Given the description of an element on the screen output the (x, y) to click on. 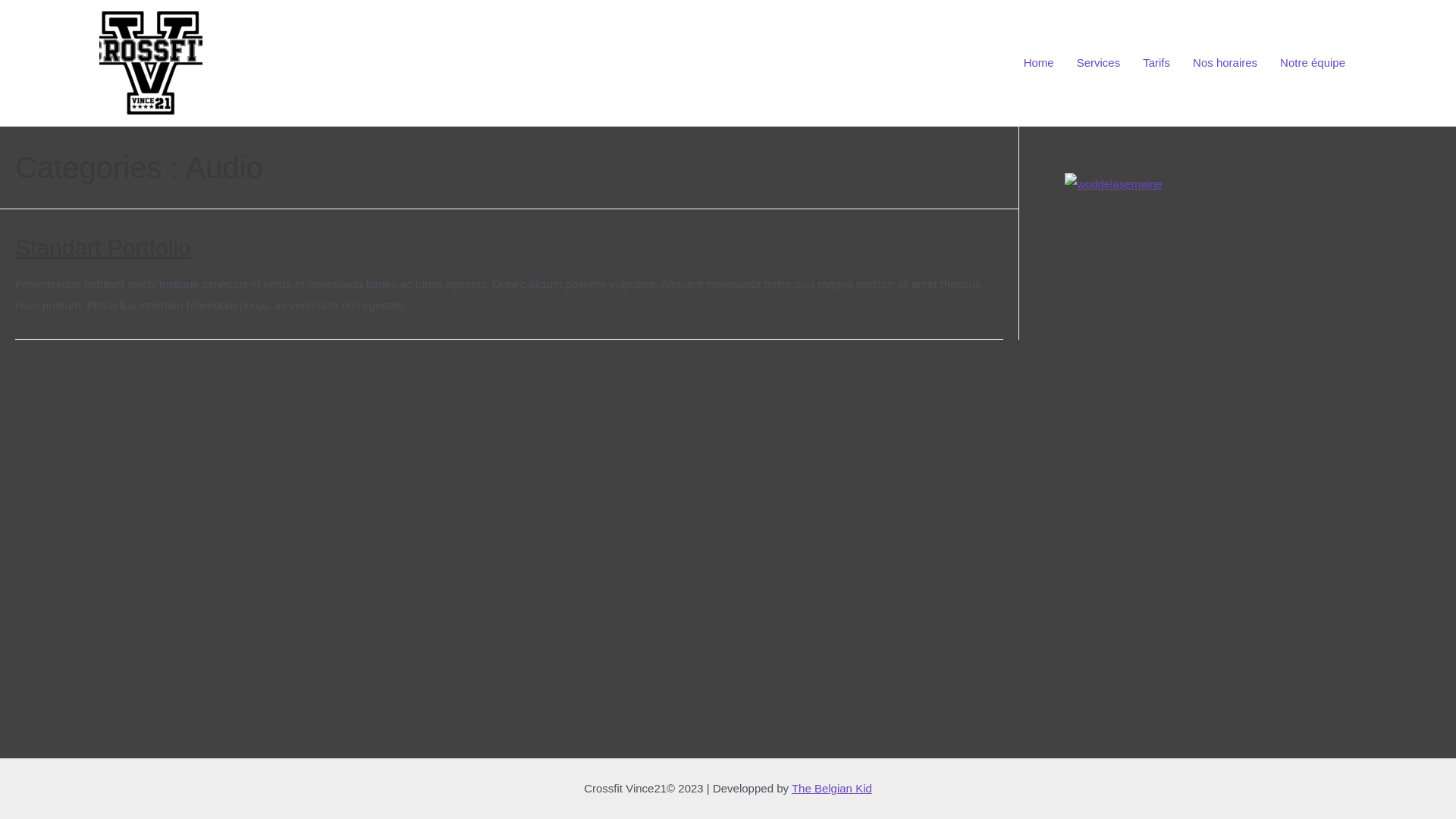
Home Element type: text (1038, 62)
The Belgian Kid Element type: text (831, 787)
Standart Portfolio Element type: text (103, 247)
Tarifs Element type: text (1156, 62)
Nos horaires Element type: text (1224, 62)
Services Element type: text (1098, 62)
